Given the description of an element on the screen output the (x, y) to click on. 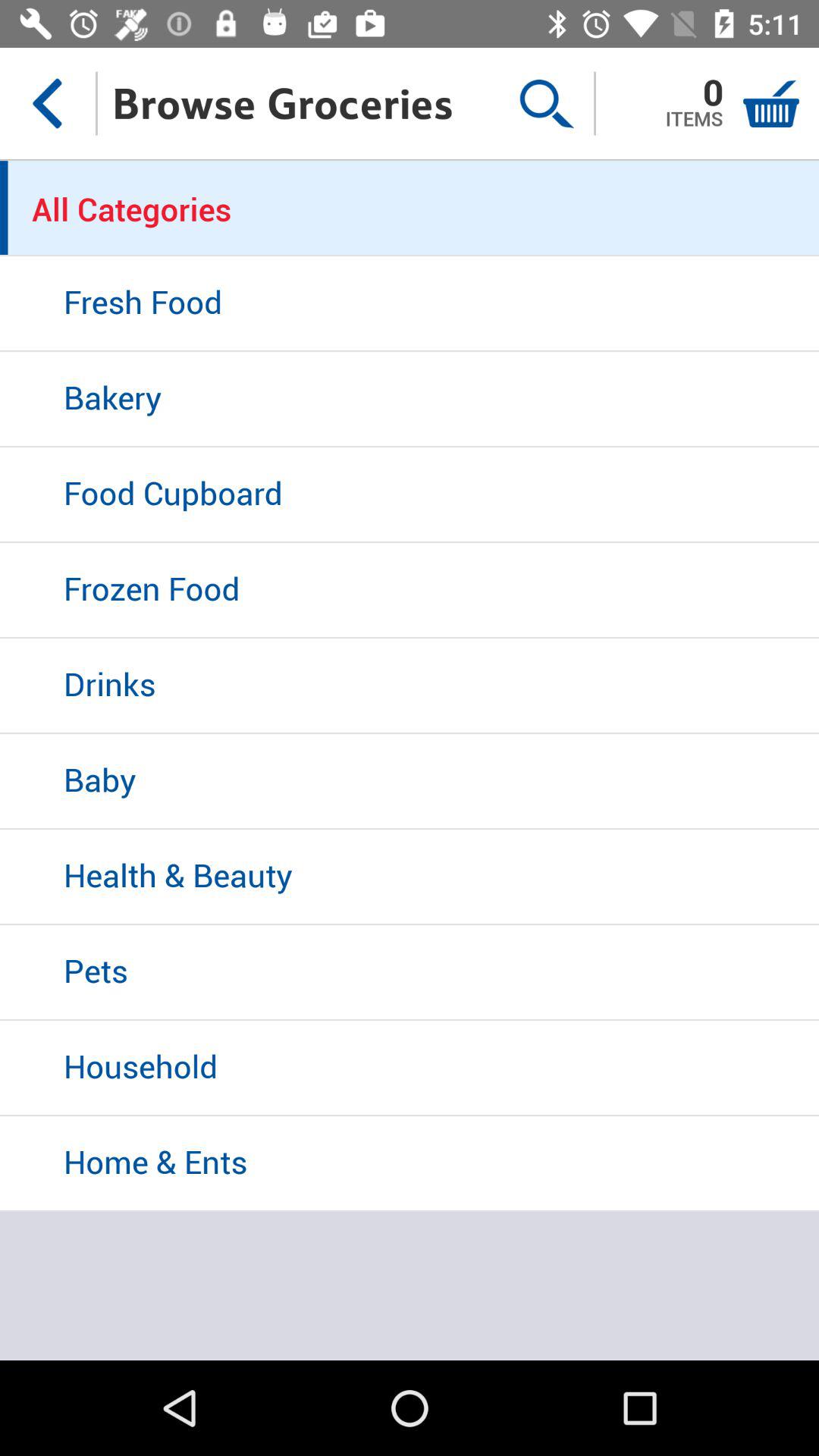
press household (409, 1068)
